Given the description of an element on the screen output the (x, y) to click on. 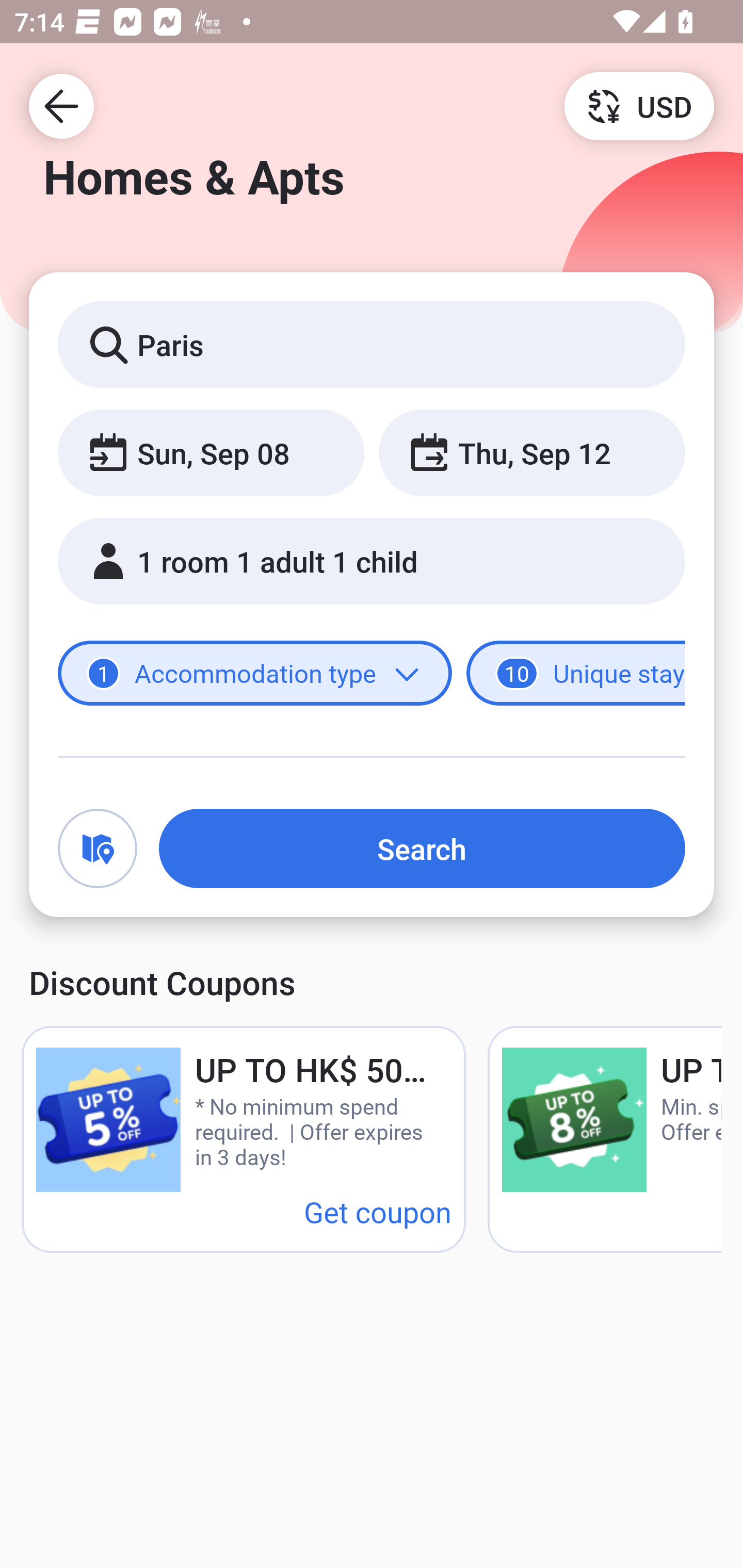
USD (639, 105)
Paris (371, 344)
Sun, Sep 08 (210, 452)
Thu, Sep 12 (531, 452)
1 room 1 adult 1 child (371, 561)
1 Accommodation type (254, 673)
10 Unique stays (575, 673)
Search (422, 848)
Get coupon (377, 1211)
